Given the description of an element on the screen output the (x, y) to click on. 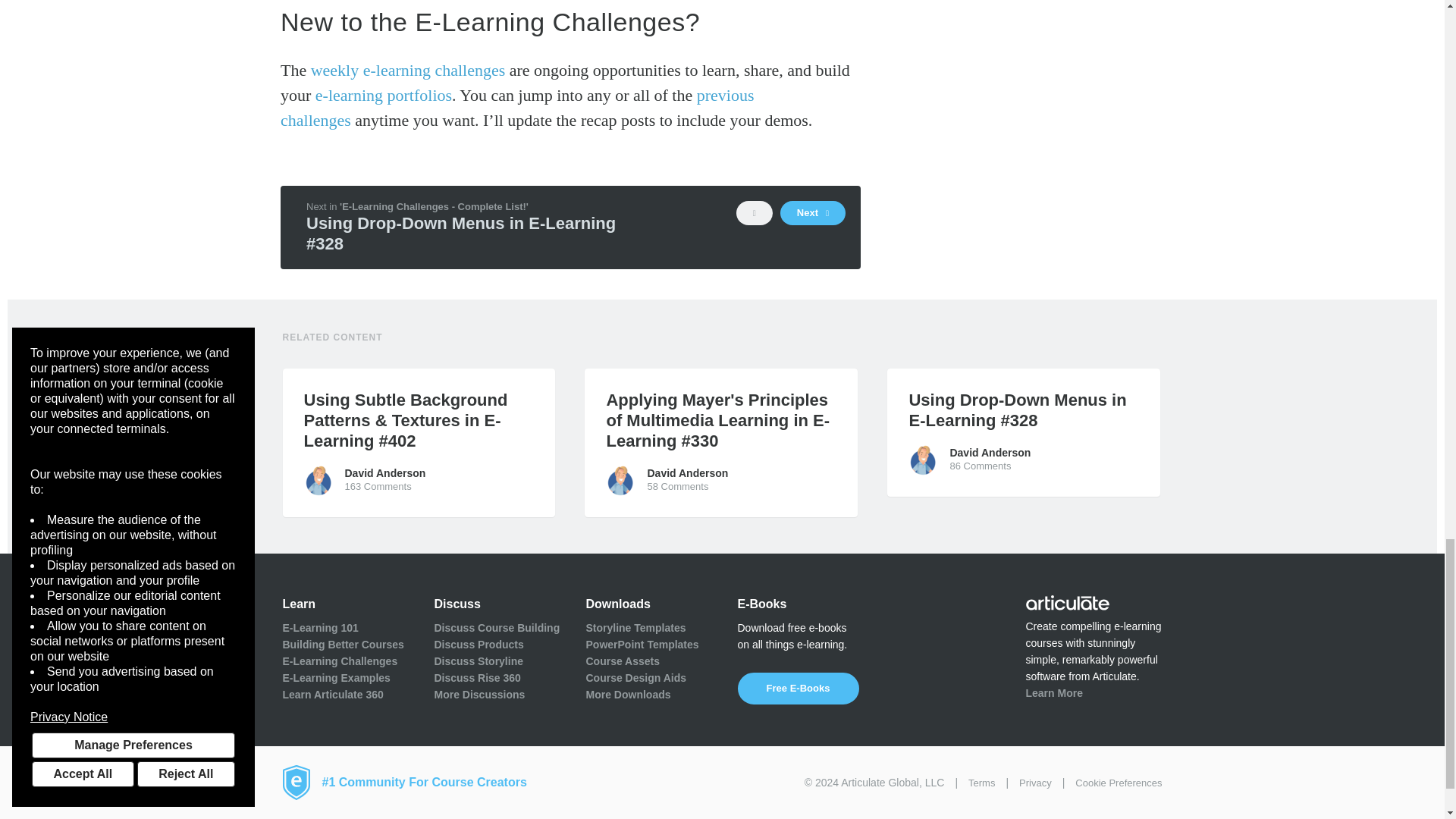
David Anderson (620, 481)
David Anderson (923, 460)
David Anderson (317, 481)
